Given the description of an element on the screen output the (x, y) to click on. 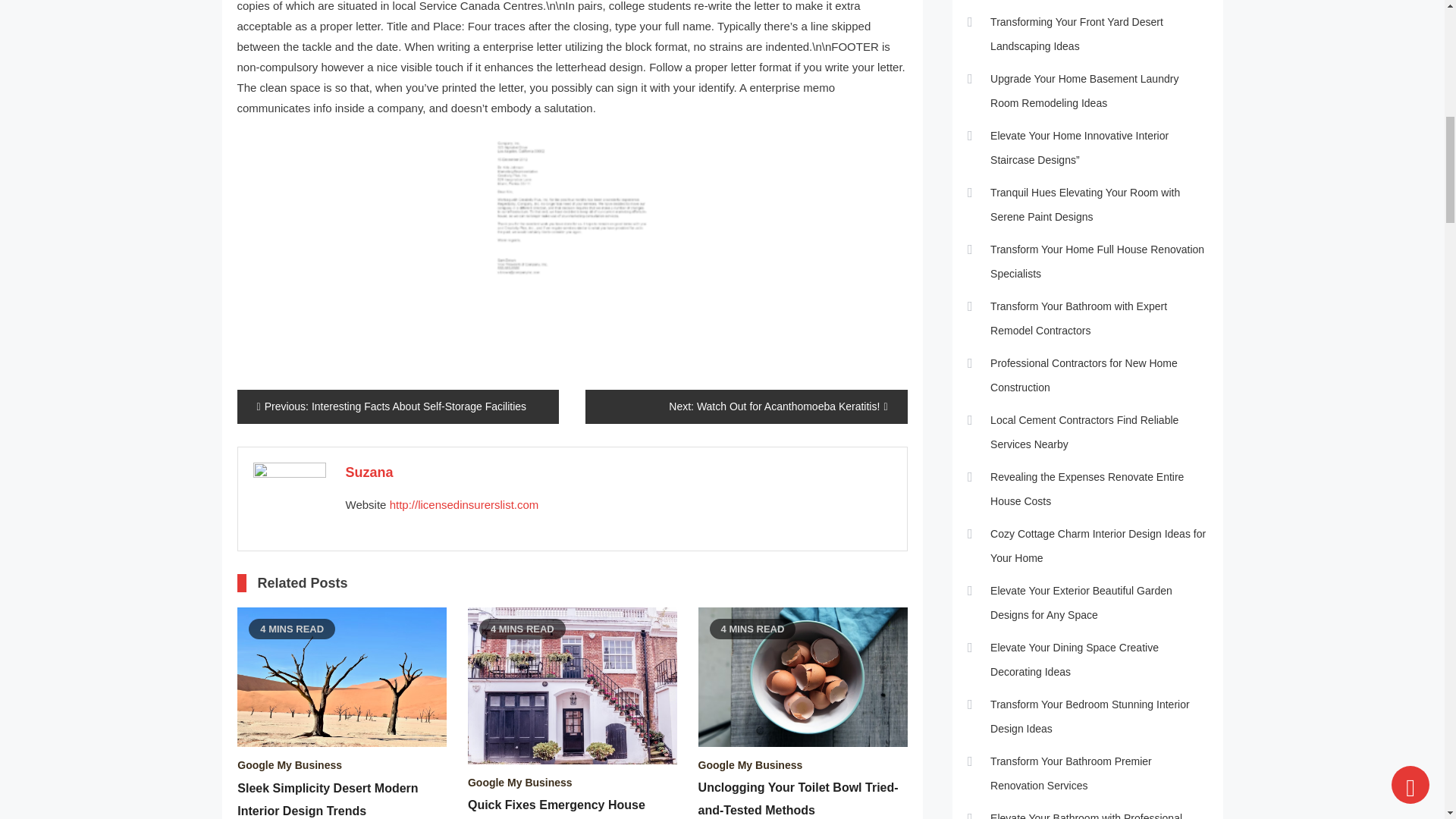
Sleek Simplicity Desert Modern Interior Design Trends (341, 676)
Unclogging Your Toilet Bowl Tried-and-Tested Methods (802, 676)
Quick Fixes Emergency House Repair Solutions Near You (572, 685)
Posts by Suzana (369, 472)
